Given the description of an element on the screen output the (x, y) to click on. 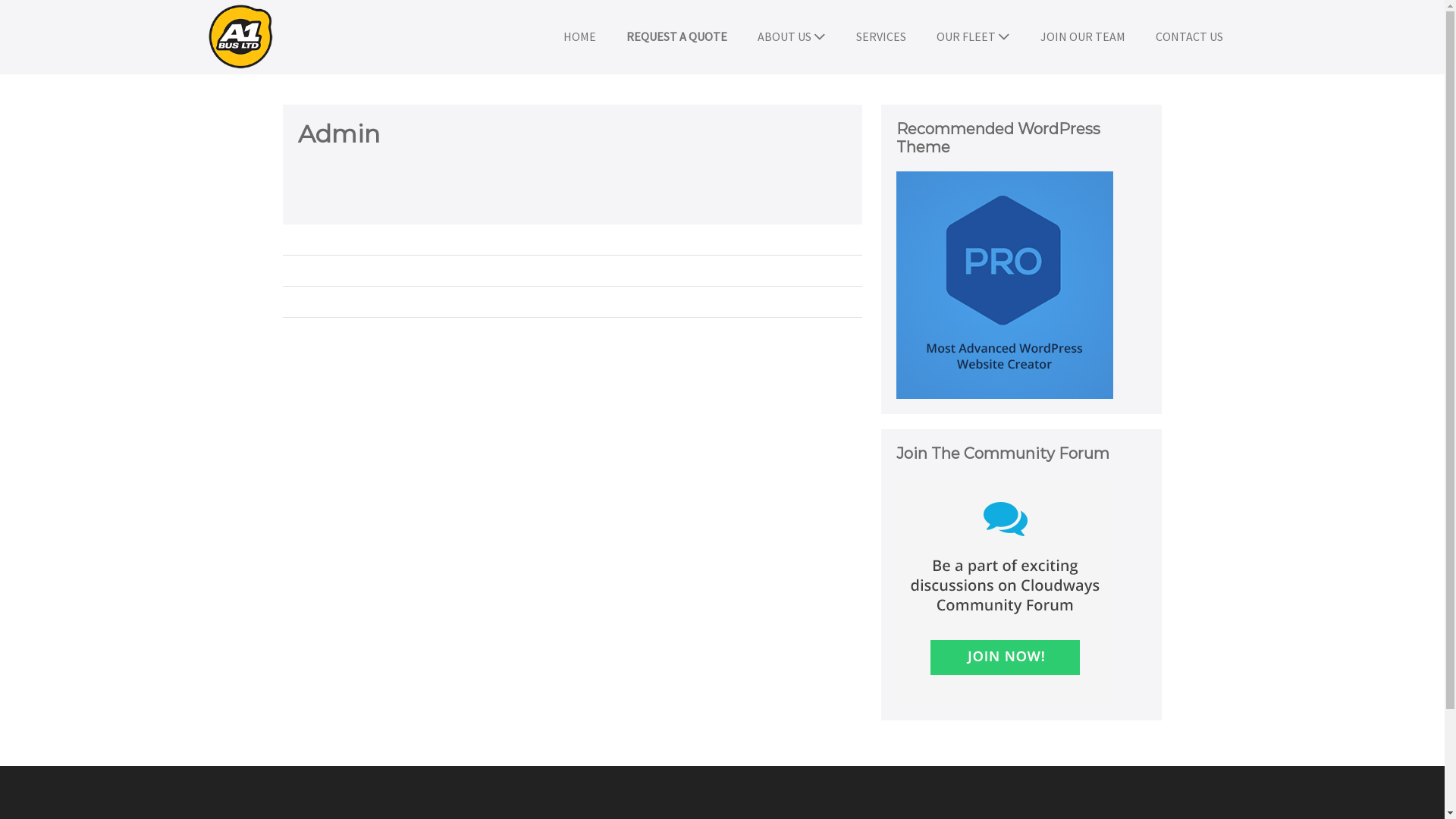
CONTACT US Element type: text (1189, 36)
ABOUT US Element type: text (790, 36)
HOME Element type: text (578, 36)
A1 Bus Ltd. Element type: hover (240, 37)
OUR FLEET Element type: text (972, 36)
SERVICES Element type: text (880, 36)
JOIN OUR TEAM Element type: text (1082, 36)
REQUEST A QUOTE Element type: text (676, 36)
